Given the description of an element on the screen output the (x, y) to click on. 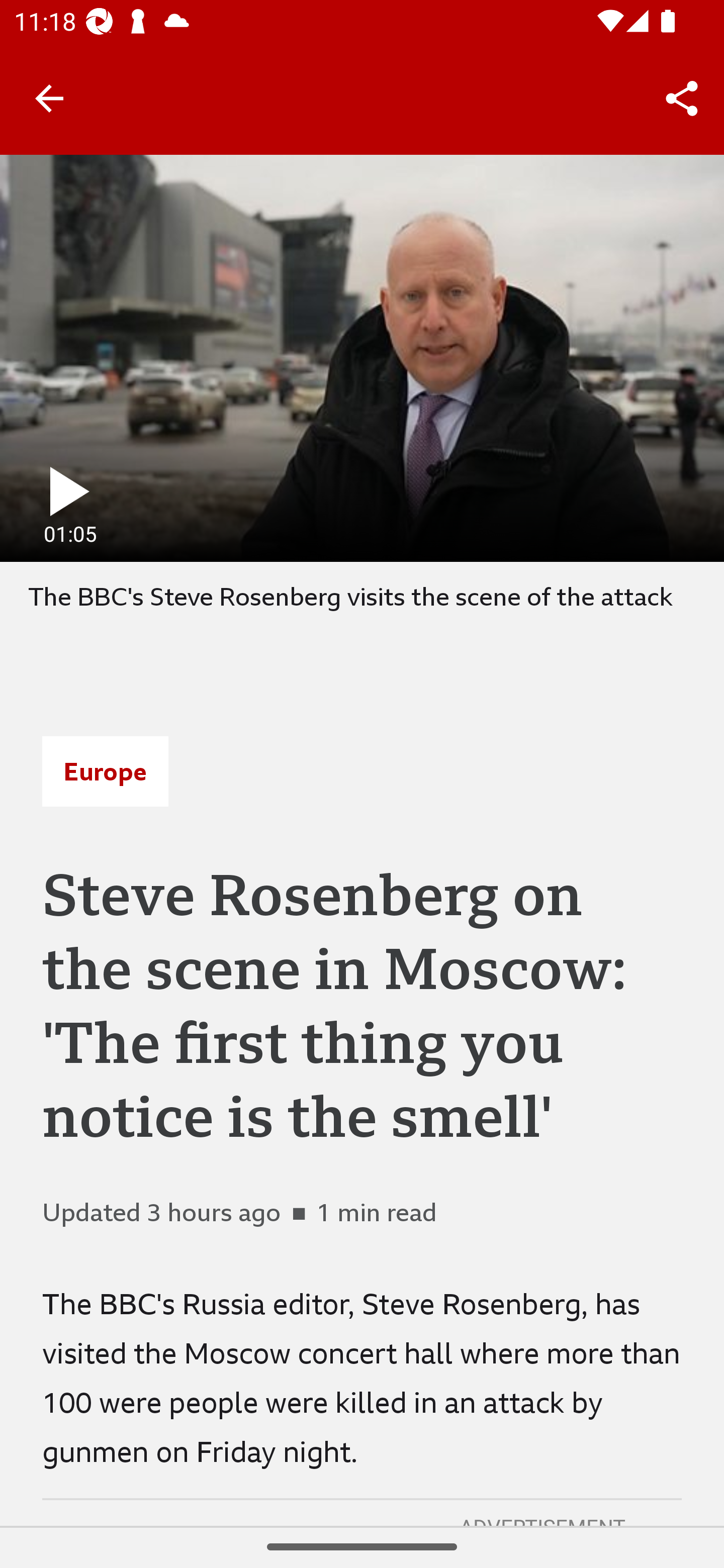
Back (49, 97)
Share (681, 98)
play fullscreen 01:05 1 minute, 5 seconds (362, 358)
Europe (104, 771)
